Given the description of an element on the screen output the (x, y) to click on. 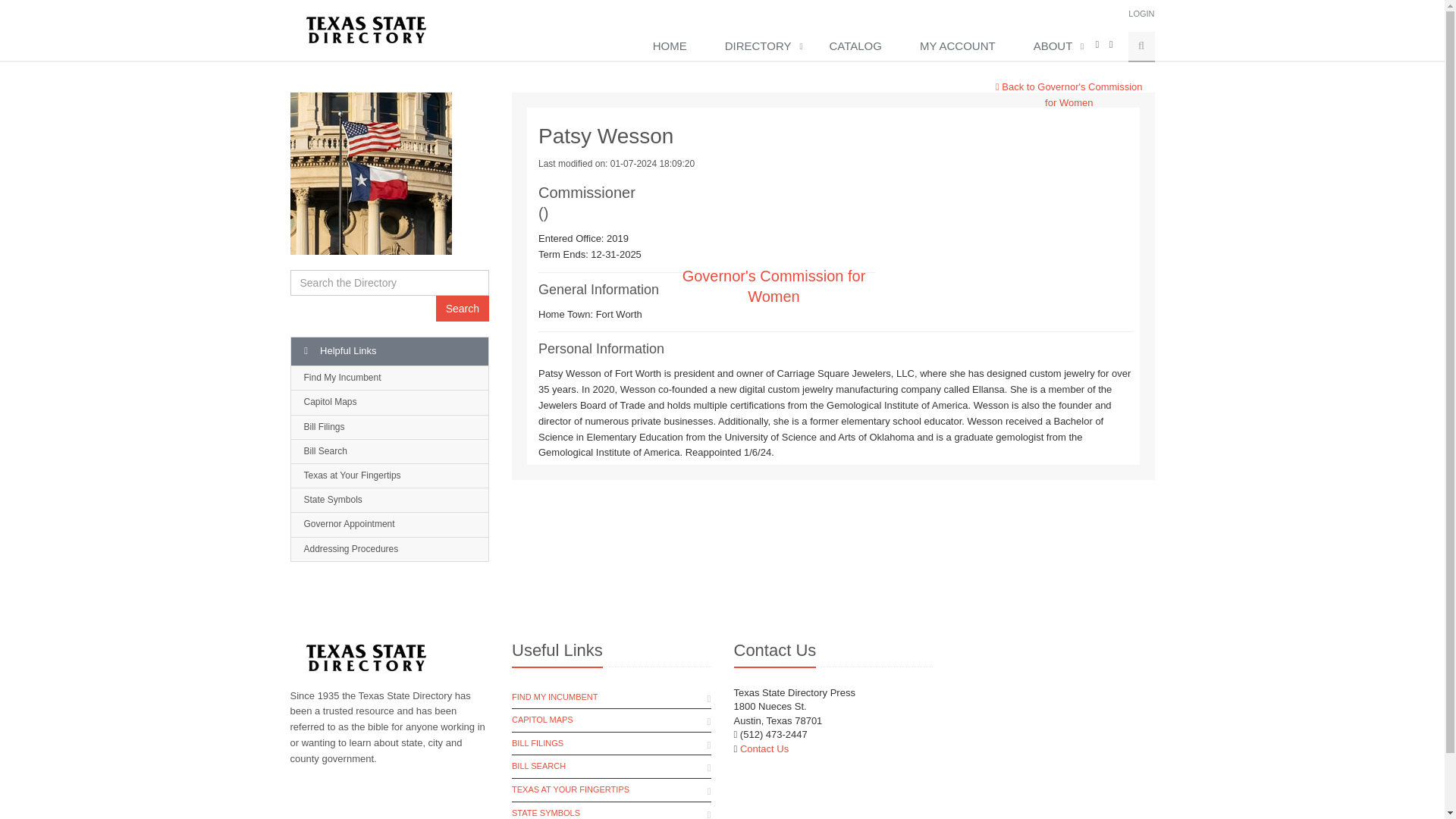
DIRECTORY (761, 46)
HOME (673, 46)
LOGIN (1141, 13)
